Given the description of an element on the screen output the (x, y) to click on. 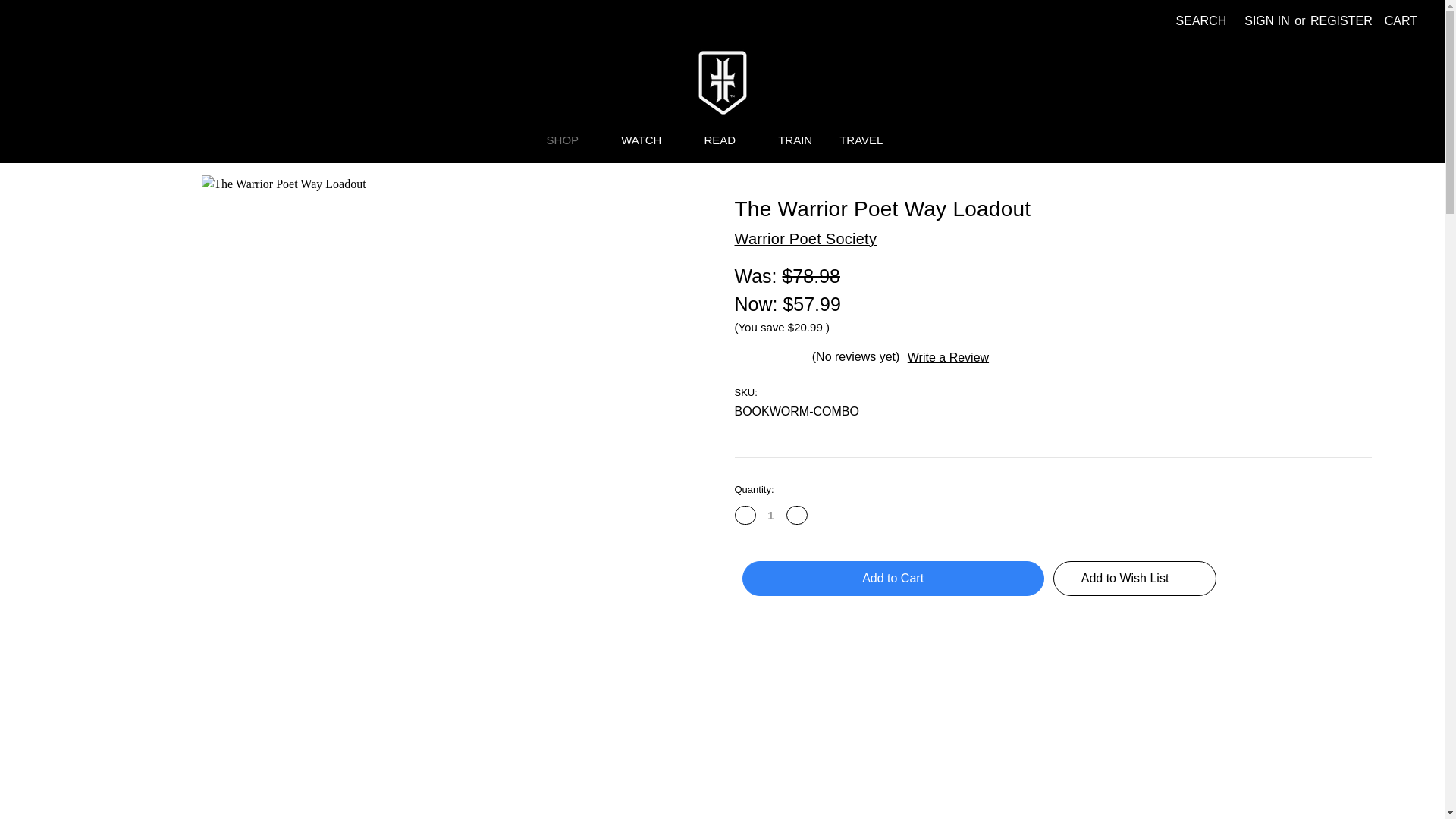
SHOP (570, 142)
Add to Cart (892, 578)
CART (1400, 21)
REGISTER (1341, 21)
SIGN IN (1266, 21)
1 (770, 514)
SEARCH (1201, 21)
